Given the description of an element on the screen output the (x, y) to click on. 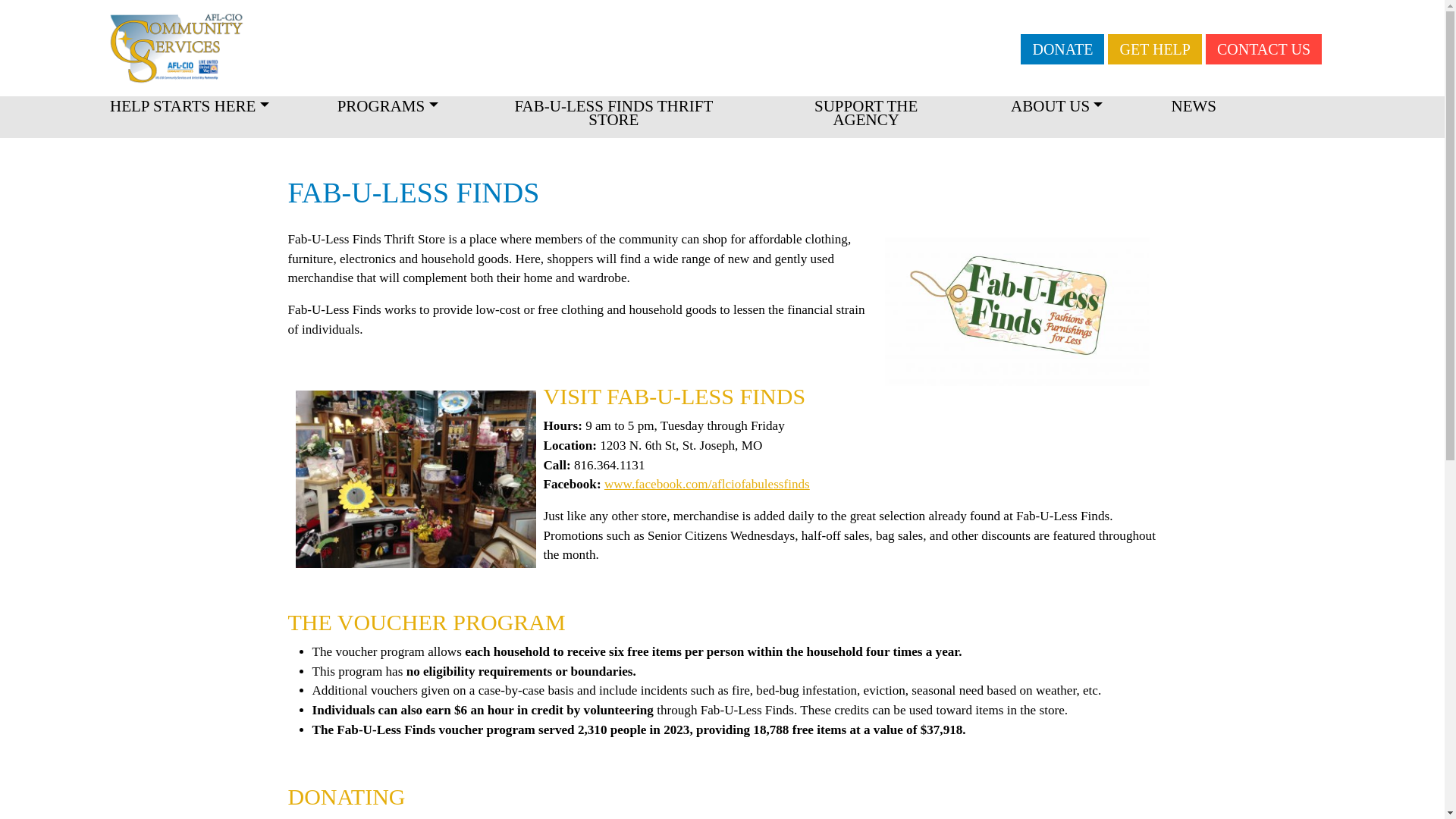
Give Now (1061, 49)
ABOUT US (1056, 112)
CONTACT US (1263, 49)
FAB-U-LESS FINDS THRIFT STORE (614, 118)
SUPPORT THE AGENCY (865, 118)
NEWS (1192, 112)
GET HELP (1155, 49)
Home (287, 47)
DONATE (1061, 49)
